Given the description of an element on the screen output the (x, y) to click on. 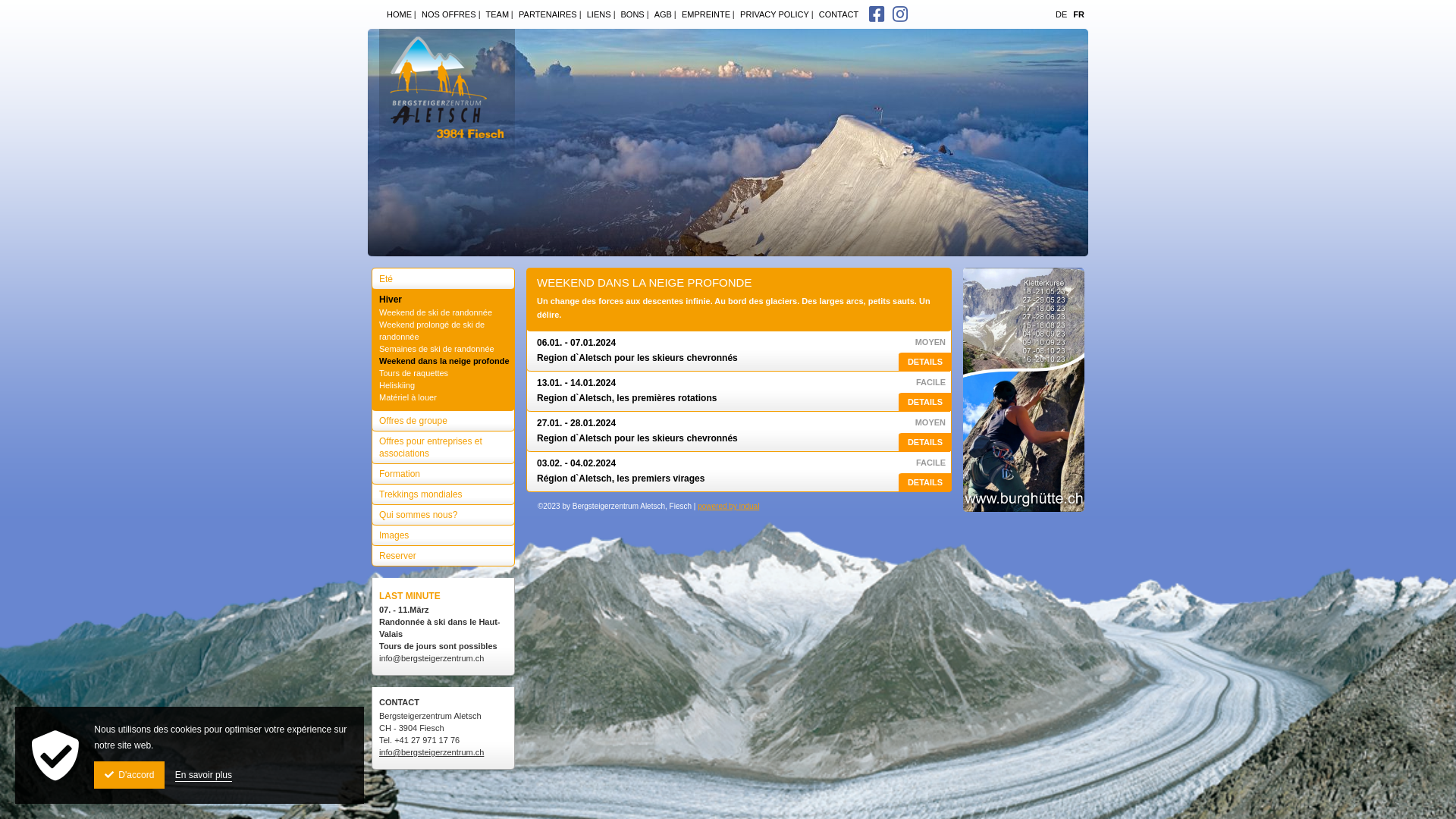
Formation Element type: text (442, 470)
TEAM Element type: text (494, 13)
Reserver Element type: text (442, 552)
CONTACT Element type: text (835, 13)
BONS Element type: text (629, 13)
DETAILS Element type: text (924, 401)
Offres pour entreprises et associations Element type: text (442, 443)
EMPREINTE Element type: text (703, 13)
DETAILS Element type: text (924, 442)
Weekend dans la neige profonde Element type: text (444, 360)
HOME Element type: text (396, 13)
DETAILS Element type: text (924, 482)
DE Element type: text (1060, 13)
DETAILS Element type: text (924, 361)
En savoir plus Element type: text (203, 775)
LIENS Element type: text (596, 13)
Qui sommes nous? Element type: text (442, 511)
NOS OFFRES Element type: text (446, 13)
PRIVACY POLICY Element type: text (771, 13)
FR Element type: text (1078, 13)
Tours de raquettes Element type: text (444, 373)
D'accord Element type: text (129, 774)
powered by indual Element type: text (728, 506)
LAST MINUTE Element type: text (409, 595)
AGB Element type: text (660, 13)
PARTENAIRES Element type: text (545, 13)
Images Element type: text (442, 531)
Offres de groupe Element type: text (442, 417)
Hiver Element type: text (442, 296)
Heliskiing Element type: text (444, 385)
info@bergsteigerzentrum.ch Element type: text (431, 751)
Trekkings mondiales Element type: text (442, 490)
